Given the description of an element on the screen output the (x, y) to click on. 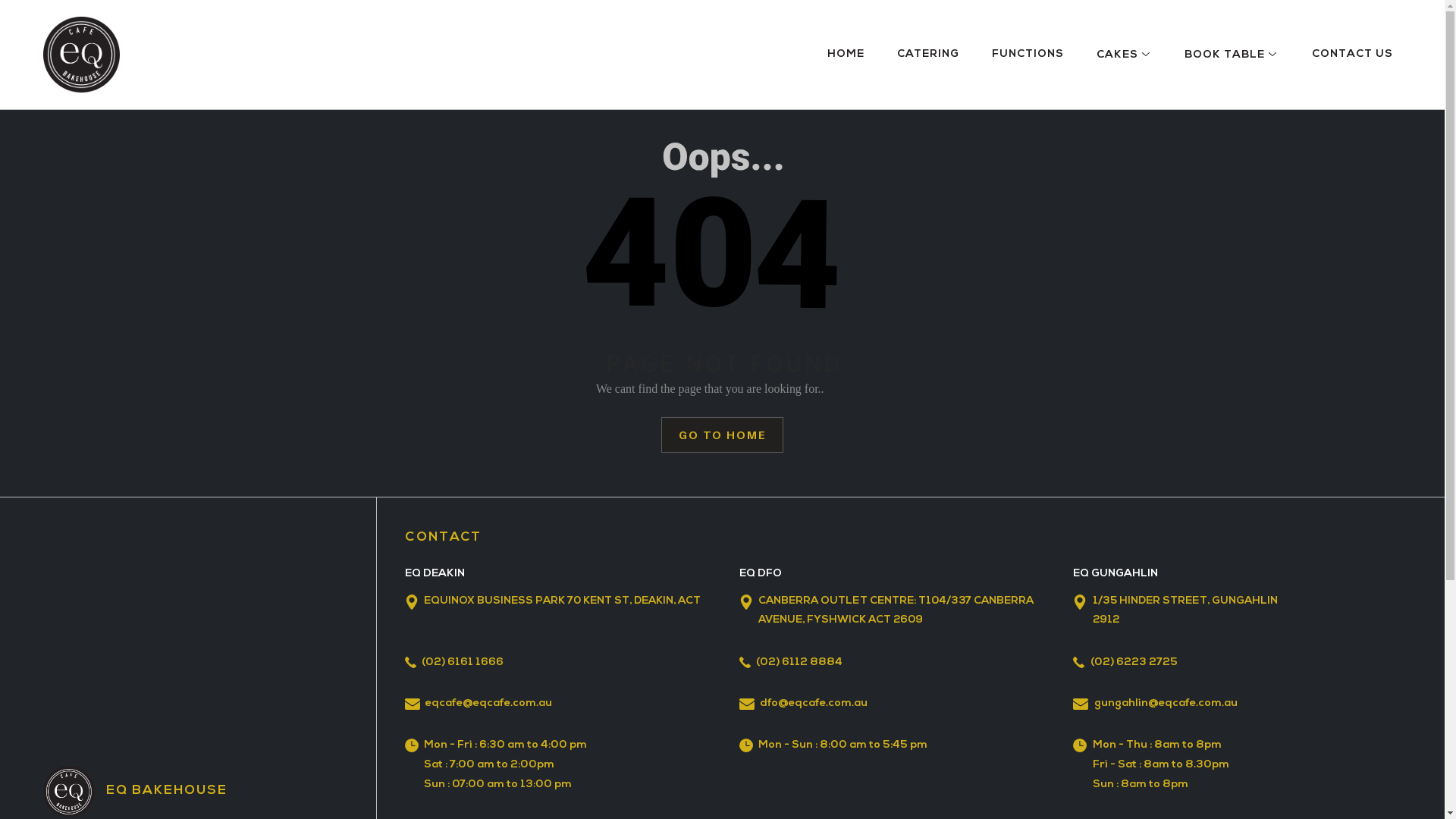
CATERING Element type: text (928, 53)
gungahlin@eqcafe.com.au Element type: text (1220, 703)
dfo@eqcafe.com.au Element type: text (886, 703)
HOME Element type: text (845, 53)
BOOK TABLE Element type: text (1231, 54)
(02) 6161 1666 Element type: text (560, 662)
eqcafe@eqcafe.com.au Element type: text (551, 703)
(02) 6112 8884 Element type: text (895, 662)
CONTACT US Element type: text (1352, 53)
GO TO HOME Element type: text (722, 434)
CAKES Element type: text (1123, 54)
FUNCTIONS Element type: text (1027, 53)
(02) 6223 2725 Element type: text (1228, 662)
